Given the description of an element on the screen output the (x, y) to click on. 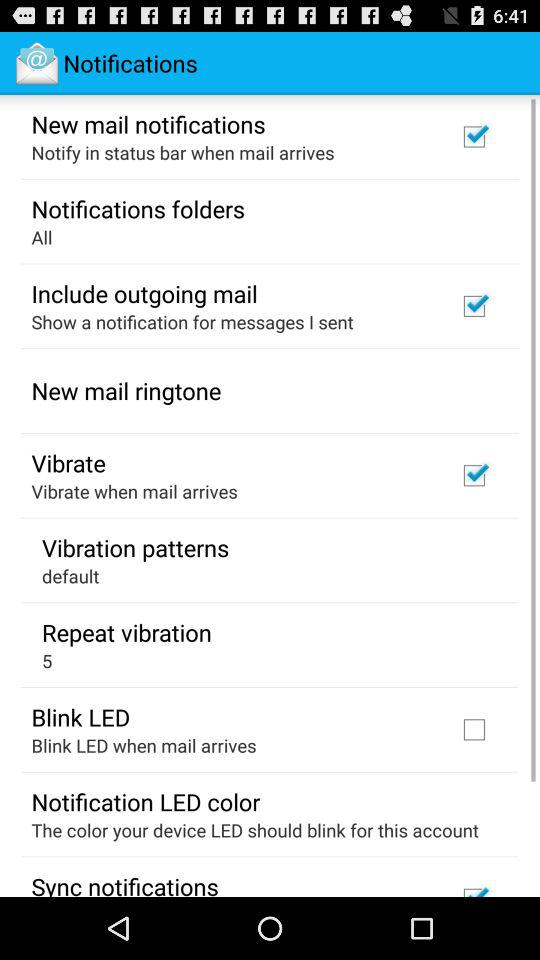
swipe to the 5 item (47, 660)
